Given the description of an element on the screen output the (x, y) to click on. 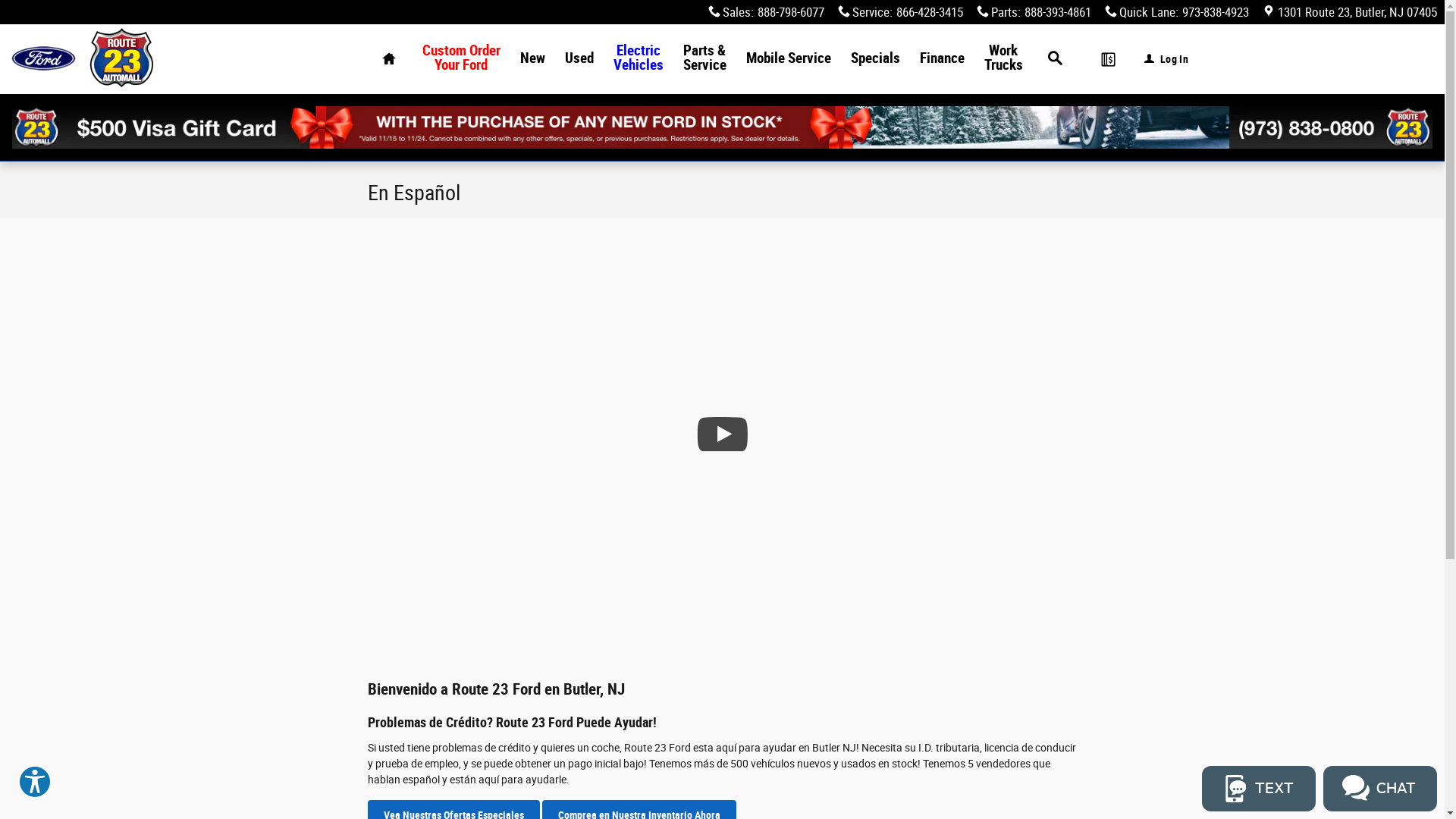
1301 Route 23 Butler, NJ 07405 Element type: text (1349, 11)
Parts &
Service Element type: text (704, 58)
Specials Element type: text (874, 58)
Mobile Service Element type: text (787, 58)
Custom Order
Your Ford Element type: text (461, 58)
Log In Element type: text (1166, 59)
TEXT Element type: text (1258, 788)
Work
Trucks Element type: text (1002, 58)
New Element type: text (531, 58)
Home Element type: text (389, 58)
Finance Element type: text (942, 58)
Skip to main content Element type: text (0, 0)
Search the whole site!  Element type: hover (1055, 58)
Electric
Vehicles Element type: text (638, 58)
Used Element type: text (579, 58)
Home Element type: hover (43, 58)
CHAT Element type: text (1380, 788)
